Given the description of an element on the screen output the (x, y) to click on. 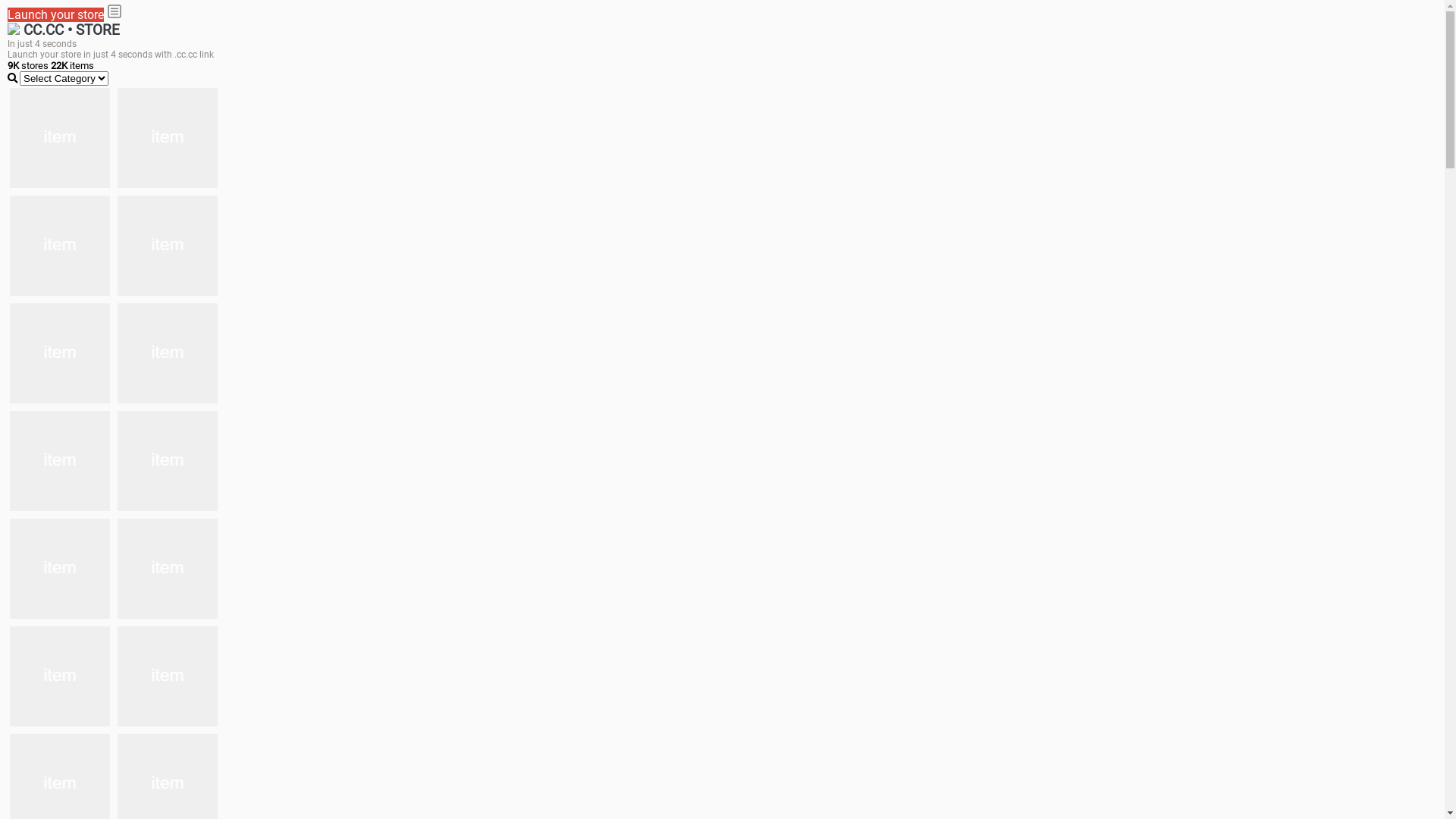
Shoes Element type: hover (167, 461)
jacket Element type: hover (59, 137)
Things we need Element type: hover (59, 353)
white shoes Element type: hover (167, 137)
Dress/square nect top Element type: hover (59, 461)
Zapatillas Element type: hover (59, 676)
Launch your store Element type: text (55, 14)
shoes for boys Element type: hover (59, 245)
Short pant Element type: hover (167, 676)
Shoes for boys Element type: hover (167, 245)
Ukay cloth Element type: hover (167, 353)
Zapatillas pumas Element type: hover (167, 568)
